Given the description of an element on the screen output the (x, y) to click on. 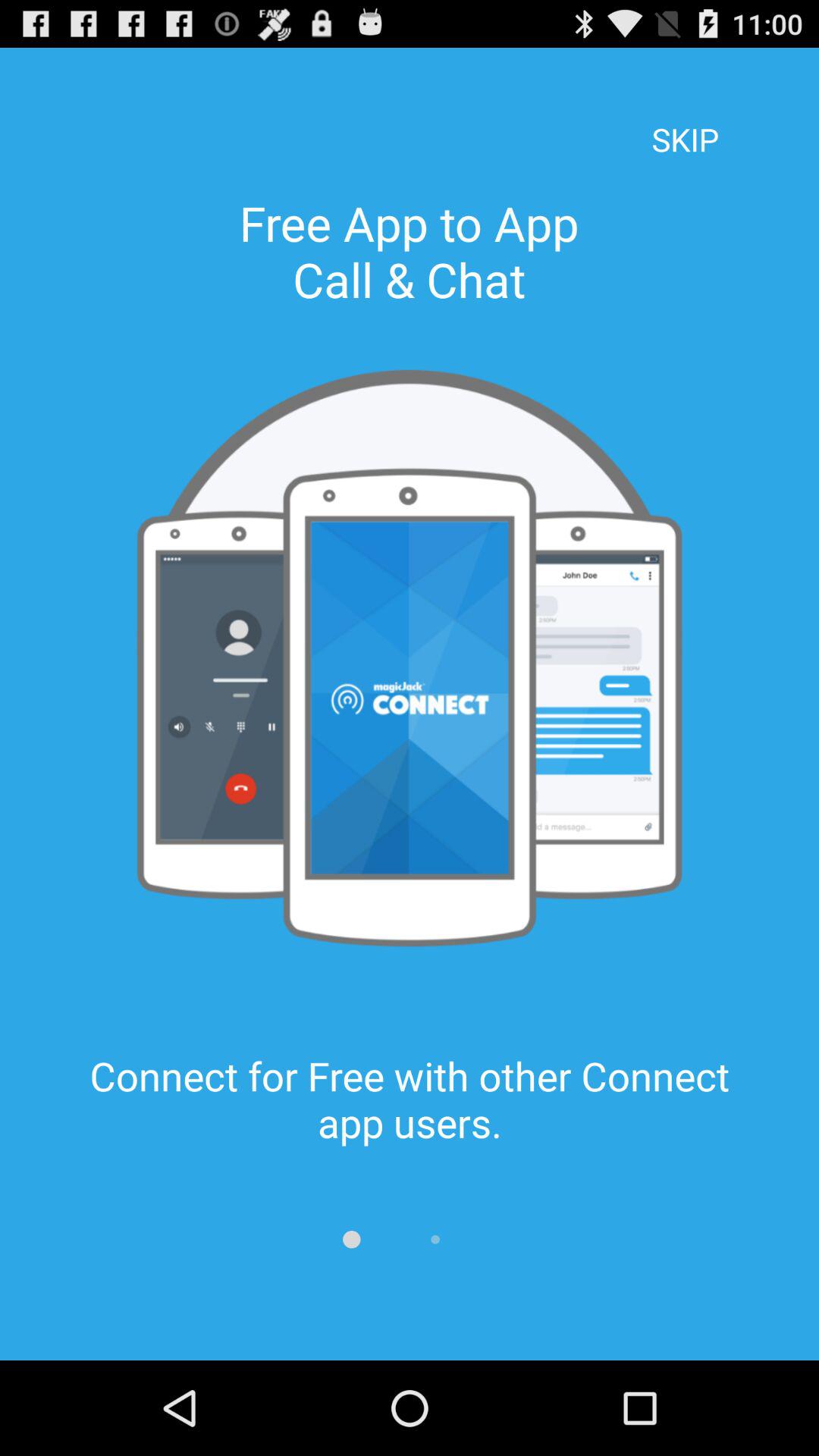
turn on the skip at the top right corner (685, 119)
